Given the description of an element on the screen output the (x, y) to click on. 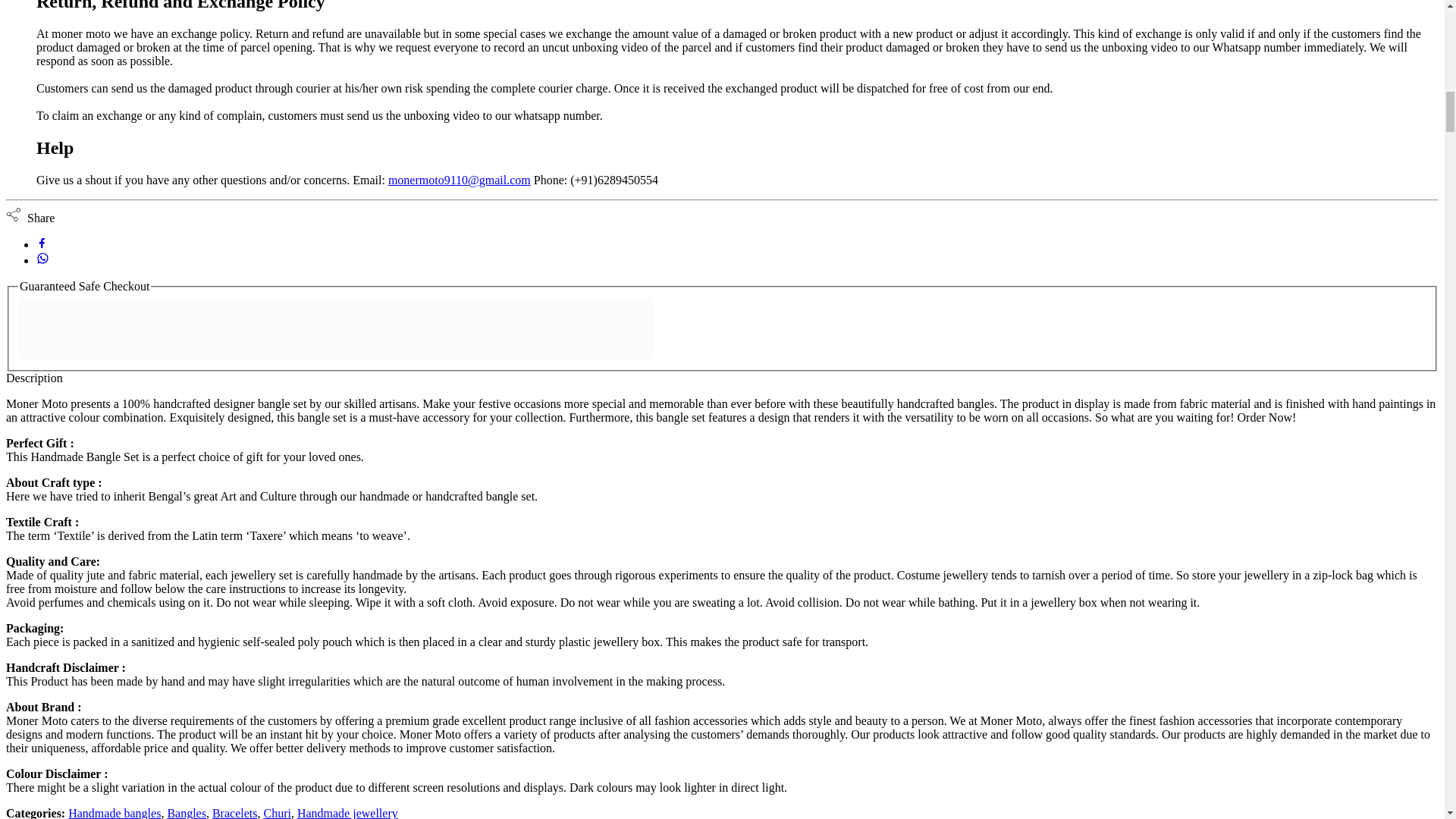
Churi (276, 812)
Handmade jewellery (347, 812)
Handmade bangles (114, 812)
Description (33, 377)
Bracelets (234, 812)
Bangles (186, 812)
